Given the description of an element on the screen output the (x, y) to click on. 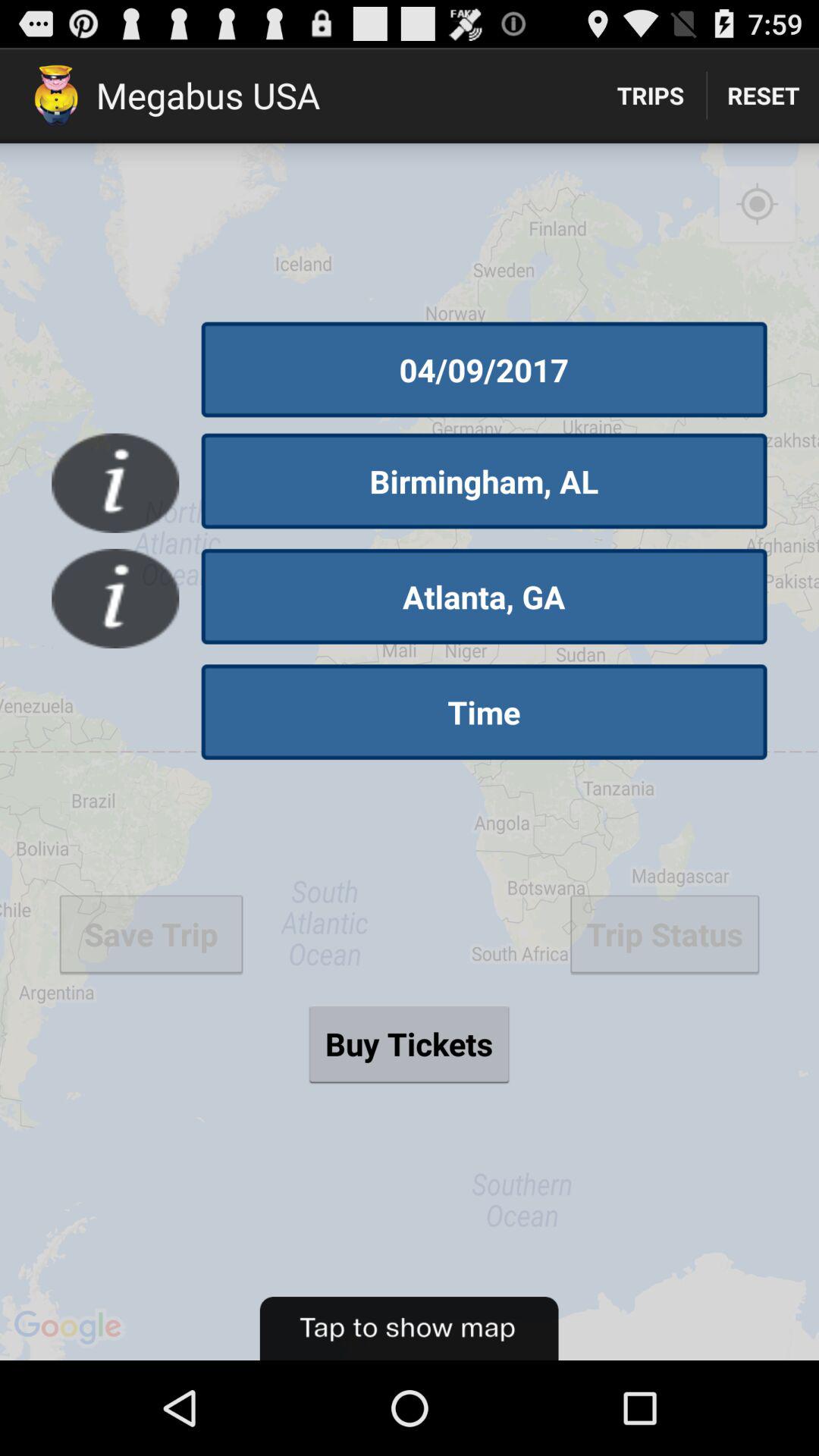
press the save trip icon (150, 934)
